Given the description of an element on the screen output the (x, y) to click on. 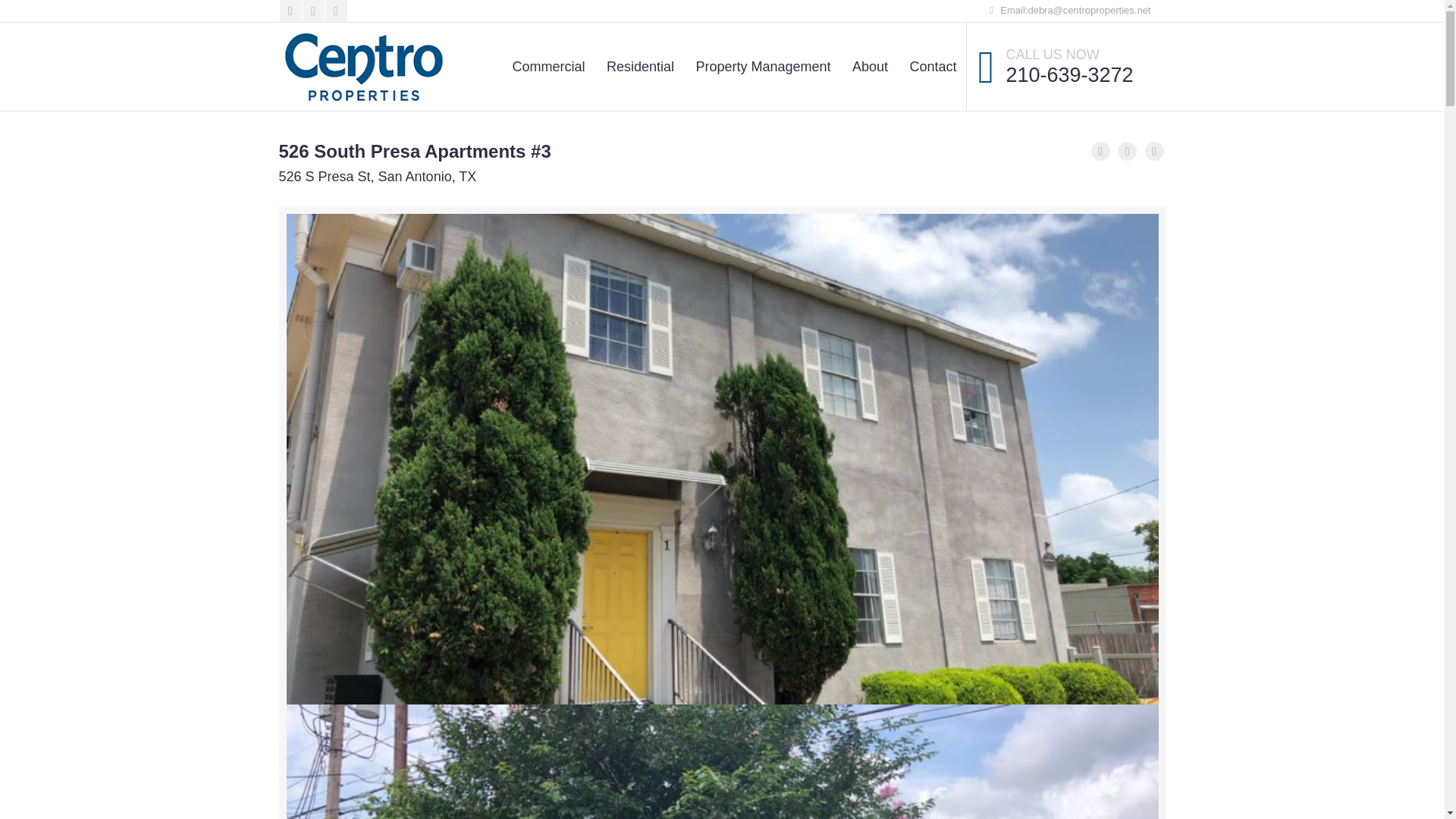
San Antonio realty experts (363, 66)
Instagram (335, 11)
Property Management (762, 66)
Share on Facebook (1099, 150)
210-639-3272 (1069, 74)
Facebook (290, 11)
Share on LinkedIn (1153, 150)
Residential (639, 66)
LinkedIn (312, 11)
Commercial (548, 66)
Share on Twitter (1127, 150)
